Given the description of an element on the screen output the (x, y) to click on. 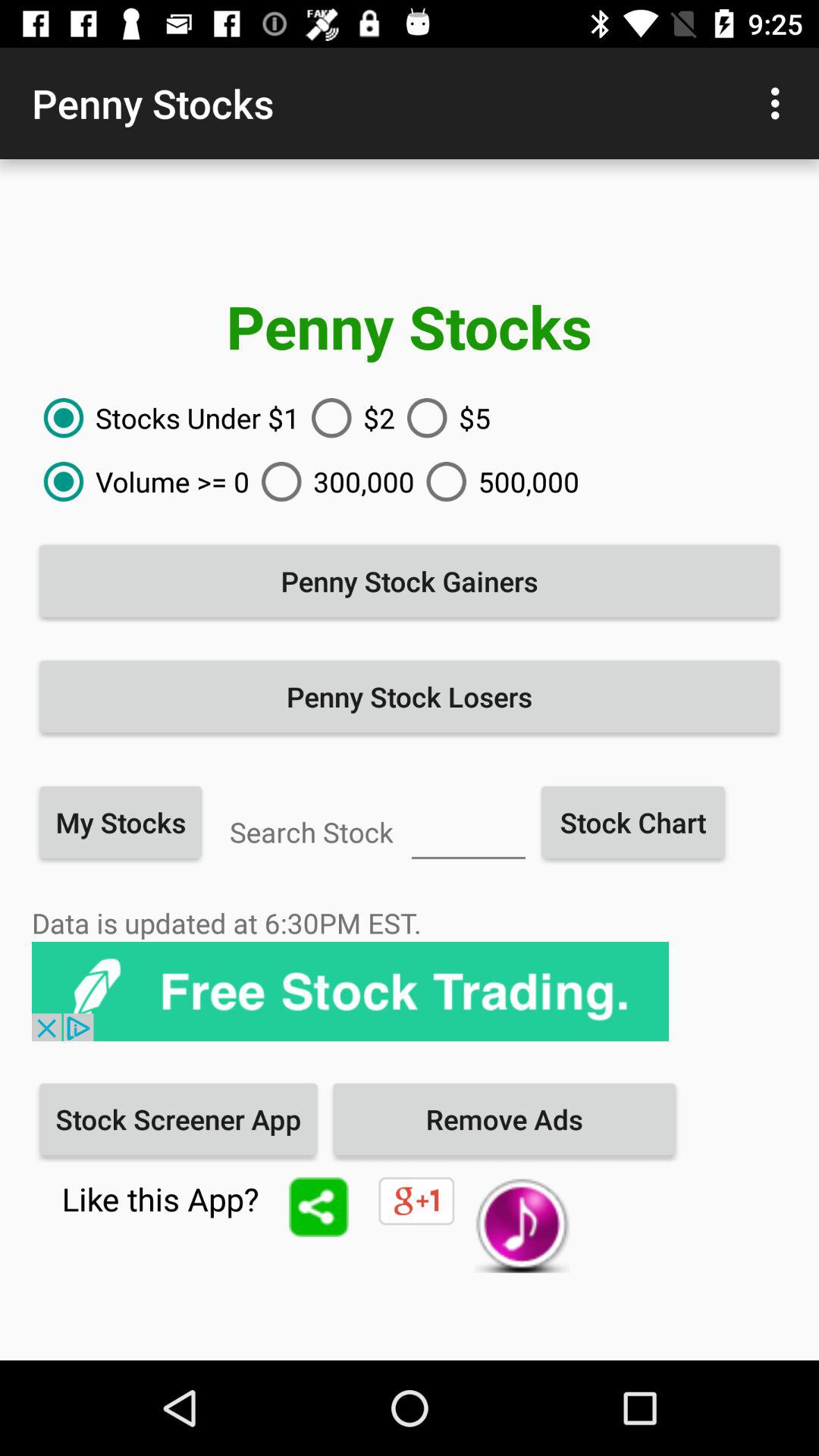
click the item to the right of like this app? item (318, 1207)
